Given the description of an element on the screen output the (x, y) to click on. 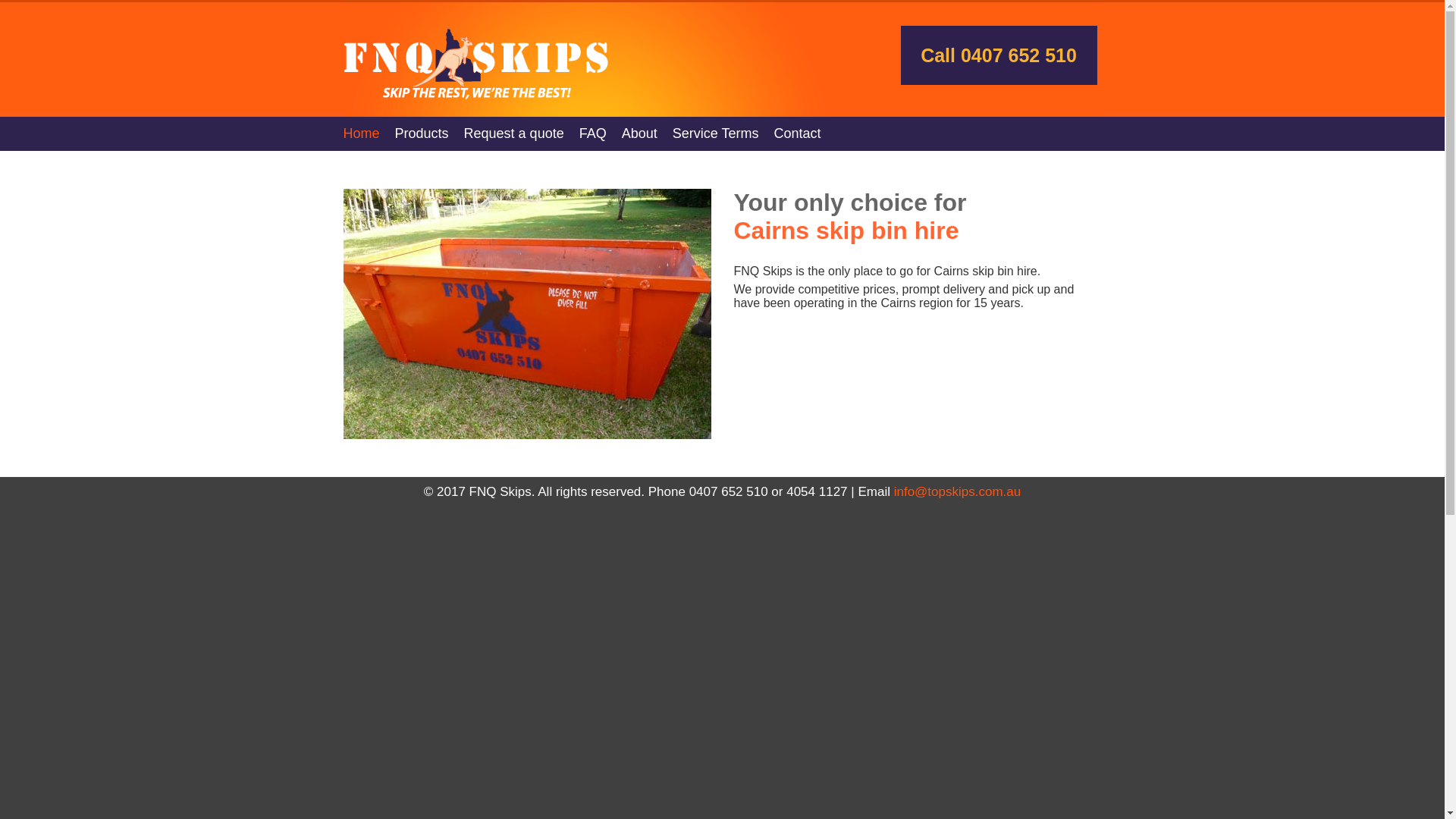
Service Terms Element type: text (723, 133)
Request a quote Element type: text (521, 133)
Products Element type: text (429, 133)
HOME Element type: hover (489, 58)
Call 0407 652 510 Element type: text (998, 54)
Contact Element type: text (804, 133)
FAQ Element type: text (600, 133)
Home Element type: text (368, 133)
info@topskips.com.au Element type: text (957, 491)
About Element type: text (646, 133)
